Given the description of an element on the screen output the (x, y) to click on. 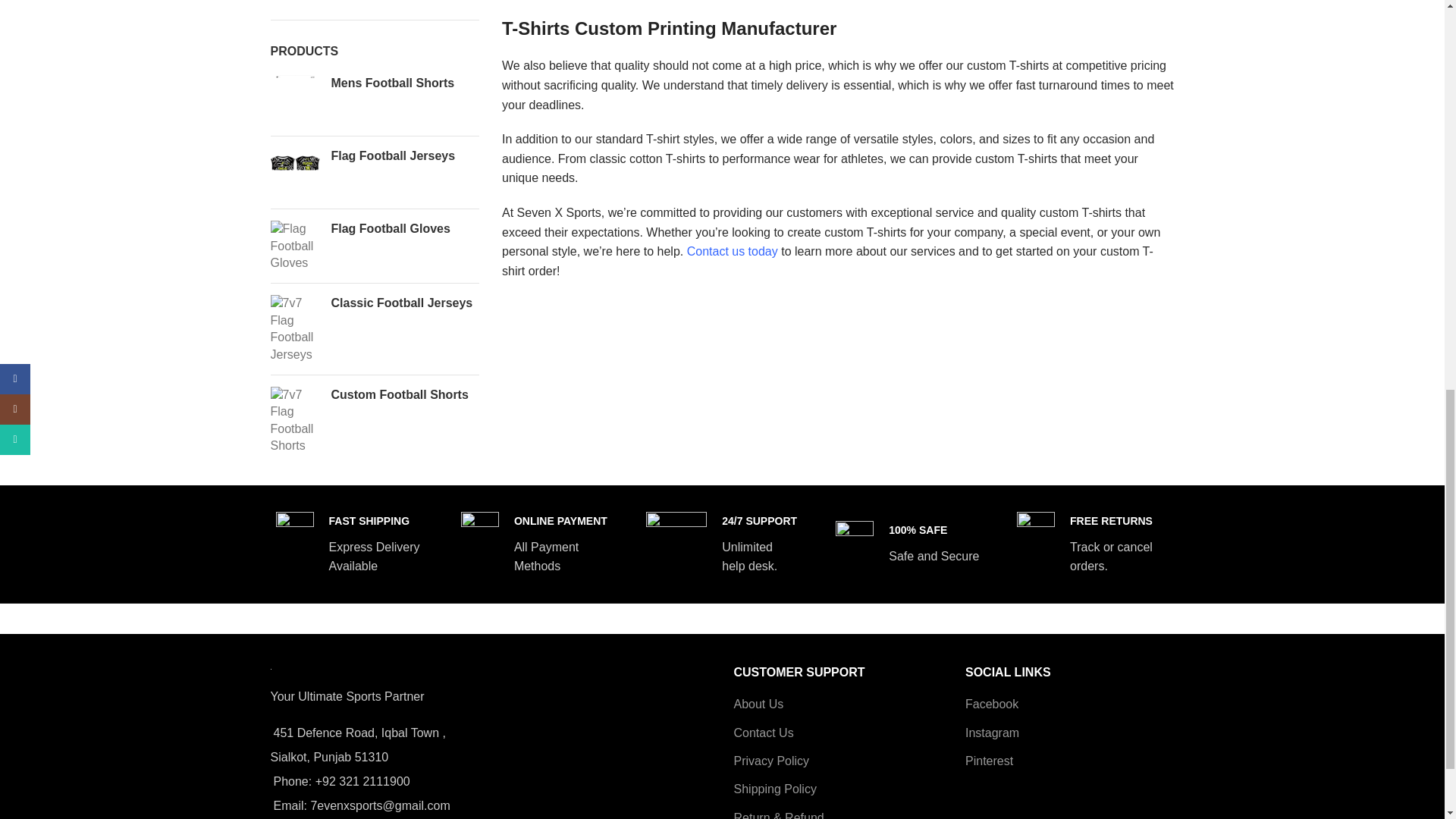
Flag Football Jerseys (404, 156)
Custom Football Shorts (404, 394)
Flag Football Gloves (293, 245)
Mens Football Shorts (404, 83)
Classic Football Jerseys (404, 303)
Flag Football Jerseys (293, 172)
Flag Football Gloves (404, 228)
Custom Football Shorts (293, 420)
Classic Football Jerseys (293, 328)
Mens Football Shorts (293, 99)
